Given the description of an element on the screen output the (x, y) to click on. 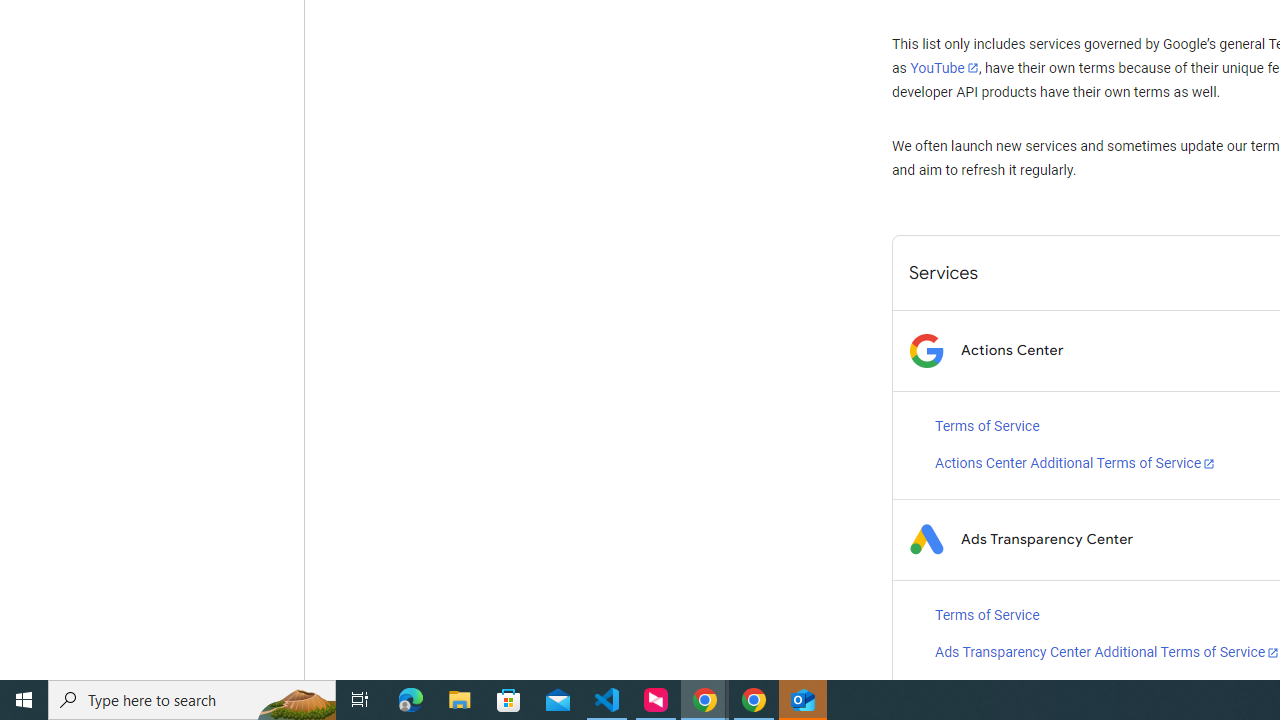
Ads Transparency Center Additional Terms of Service (1107, 652)
Logo for Ads Transparency Center (926, 539)
Logo for Actions Center (926, 349)
YouTube (944, 68)
Actions Center Additional Terms of Service (1075, 464)
